Given the description of an element on the screen output the (x, y) to click on. 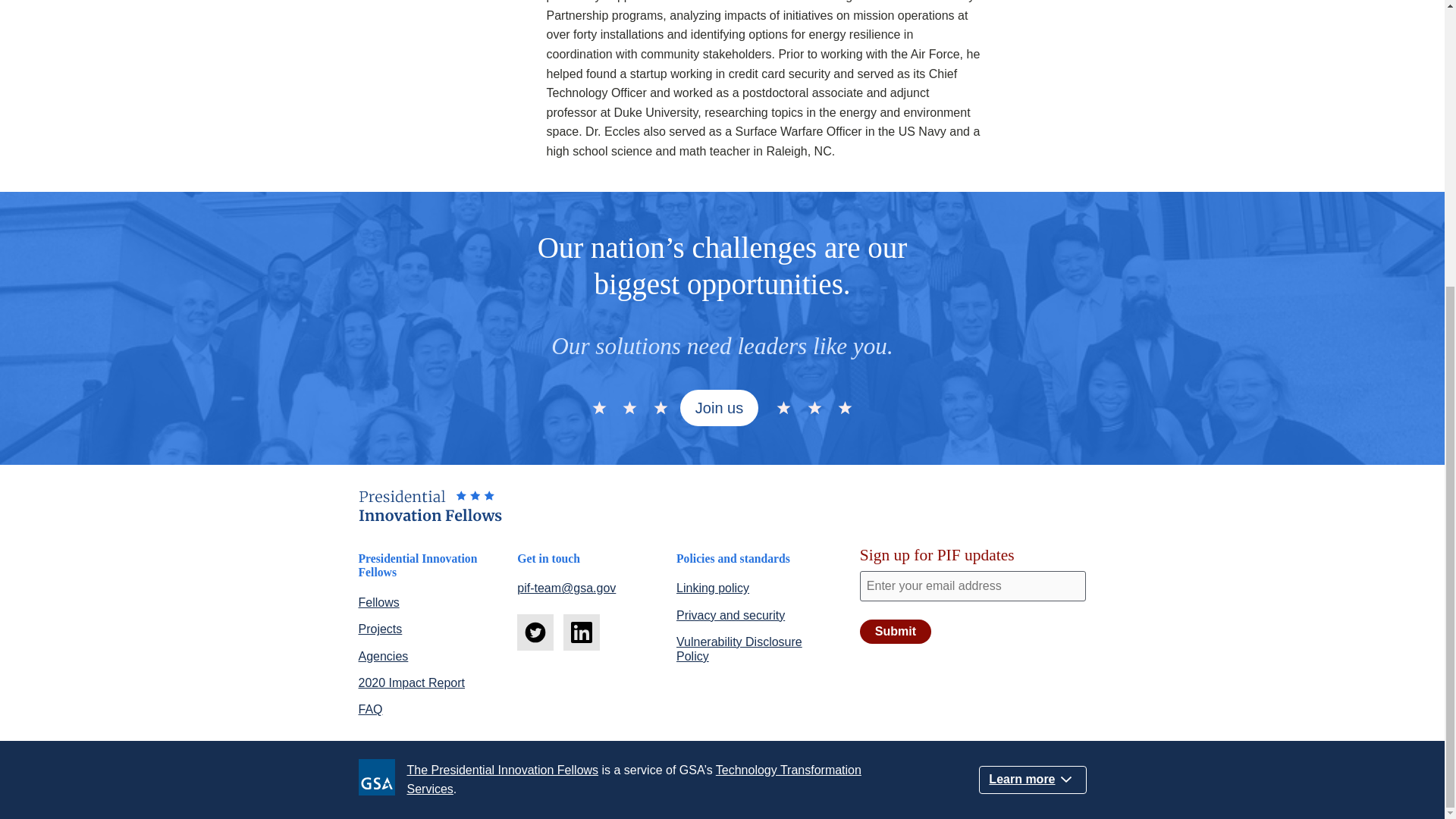
Vulnerability Disclosure Policy (739, 648)
U.S. General Services Administration (382, 779)
Agencies (382, 656)
Submit (895, 631)
Projects (379, 628)
Submit (895, 631)
2020 Impact Report (411, 682)
FAQ (369, 708)
Fellows (378, 602)
Privacy and security (730, 615)
